Given the description of an element on the screen output the (x, y) to click on. 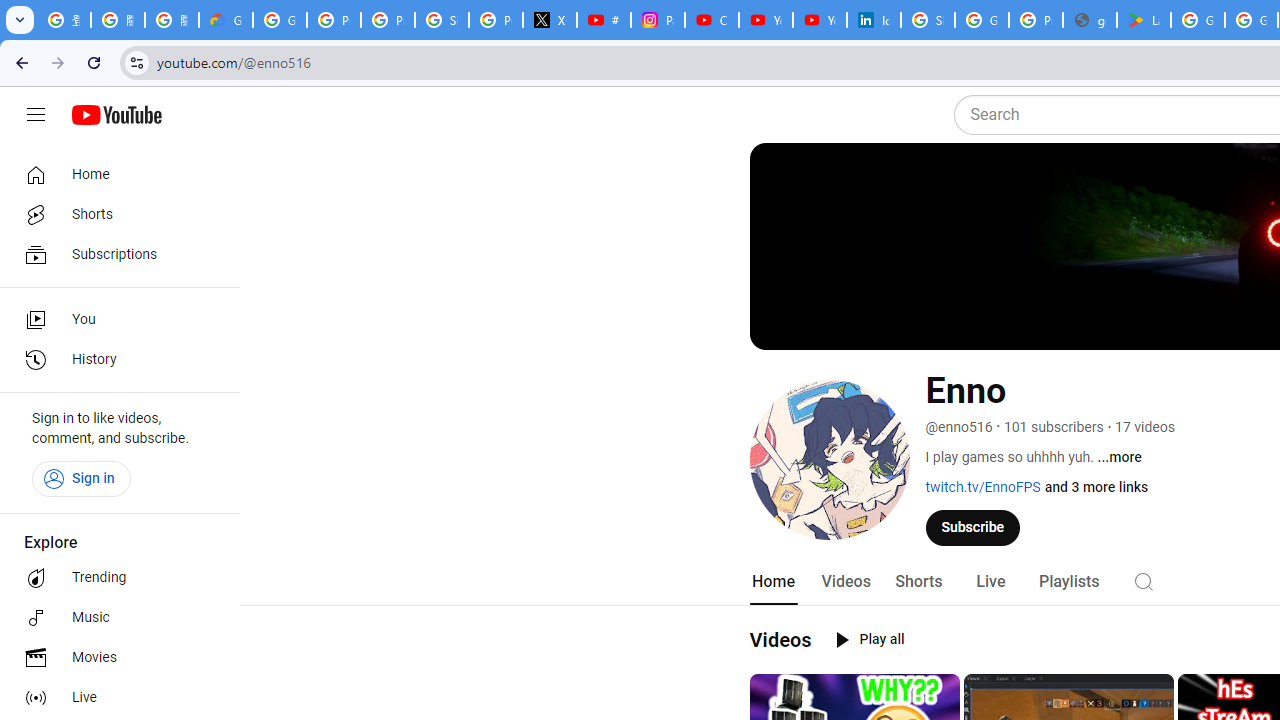
Playlists (1068, 581)
Live (113, 697)
Shorts (918, 581)
Subscriptions (113, 254)
